Given the description of an element on the screen output the (x, y) to click on. 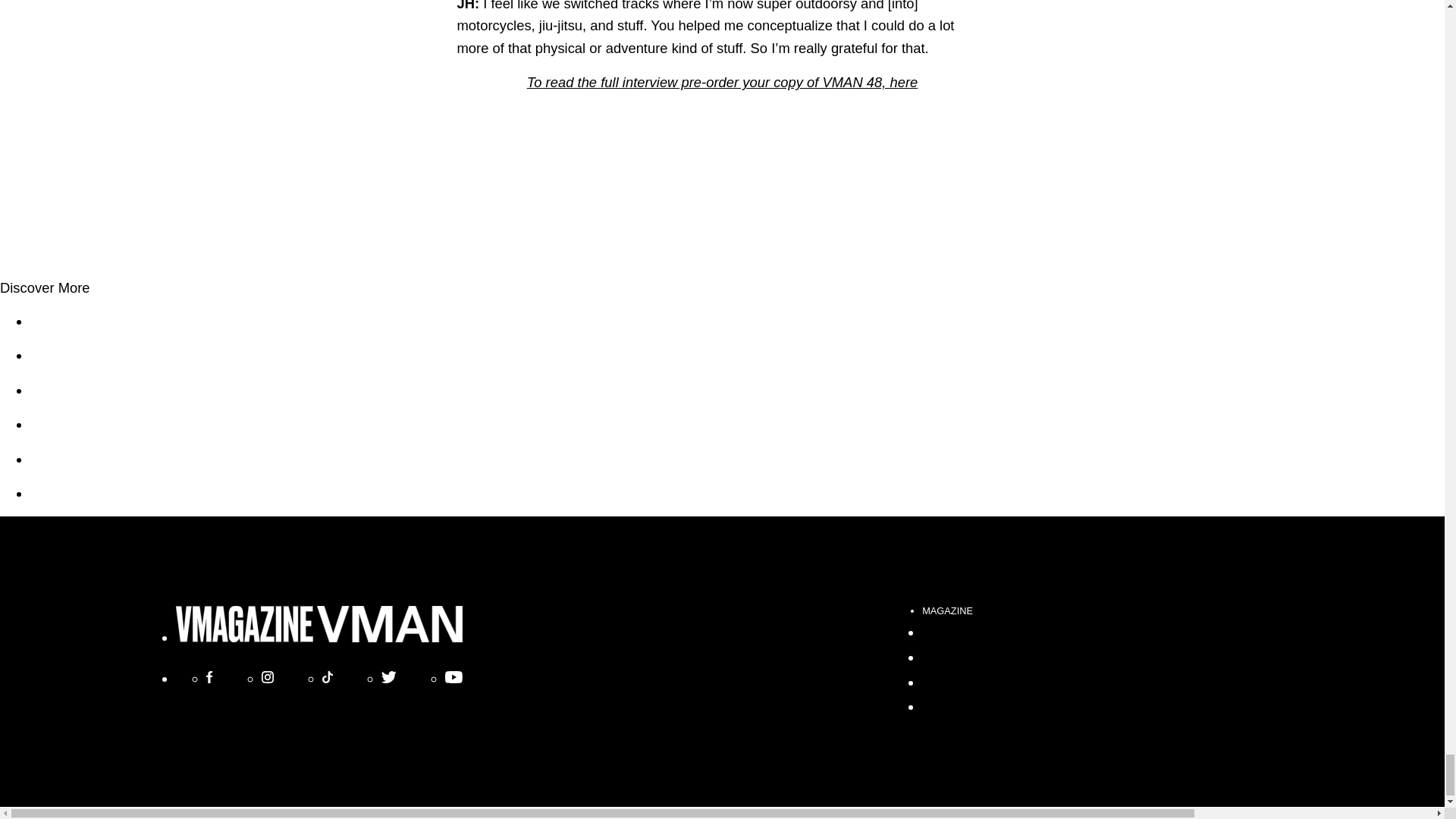
SHOP (940, 631)
SUBSCRIBE (962, 682)
